Given the description of an element on the screen output the (x, y) to click on. 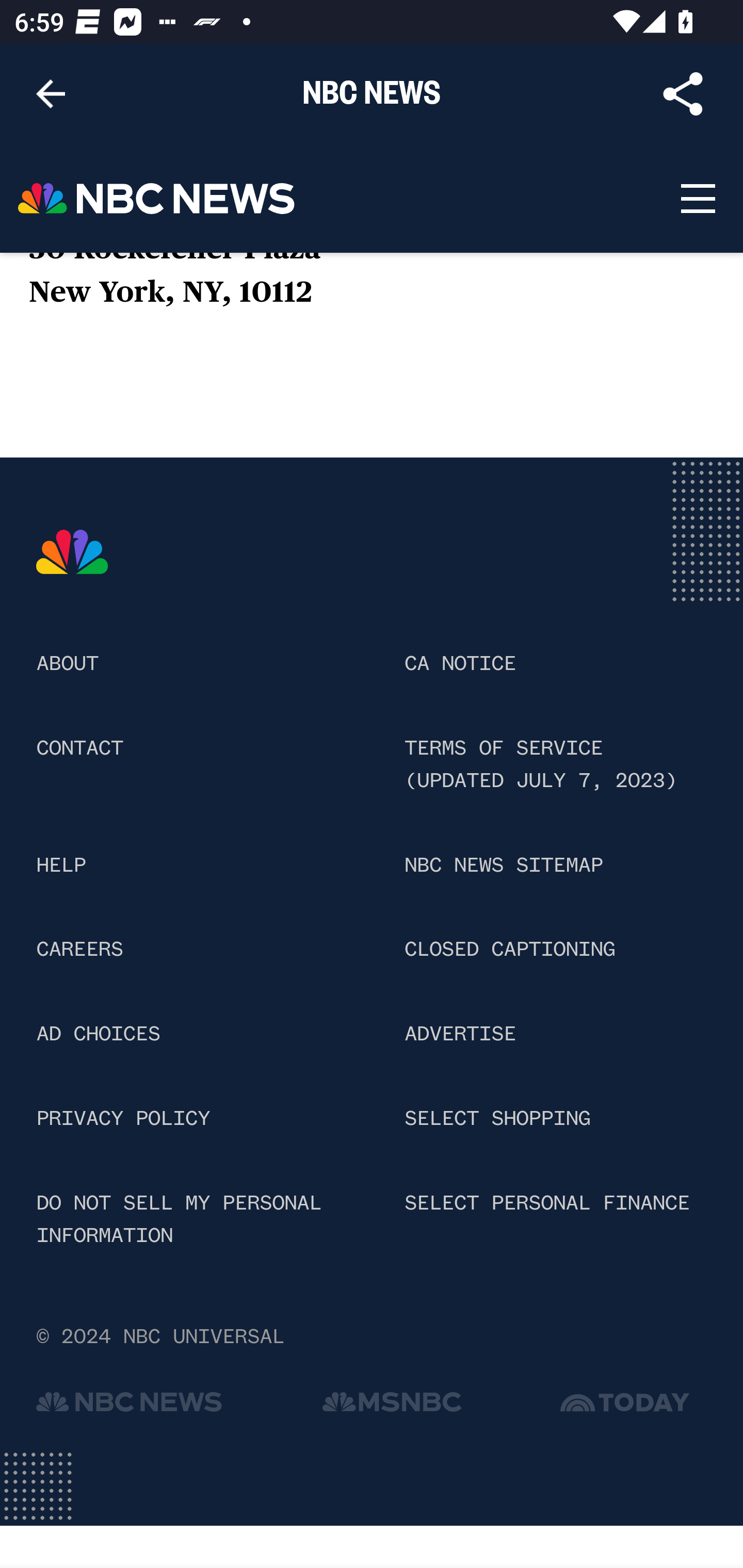
Navigate up (50, 93)
Share Article, button (683, 94)
NBC News Logo (156, 199)
news navigation and search (696, 199)
www.nbcnews (72, 553)
ABOUT (67, 663)
CA NOTICE (459, 663)
CONTACT (80, 747)
TERMS OF SERVICE (UPDATED JULY 7, 2023) (540, 763)
HELP (61, 865)
NBC NEWS SITEMAP (502, 865)
CAREERS (80, 950)
CLOSED CAPTIONING (508, 950)
AD CHOICES (98, 1035)
ADVERTISE (459, 1035)
PRIVACY POLICY (123, 1120)
SELECT SHOPPING (495, 1120)
DO NOT SELL MY PERSONAL INFORMATION (179, 1219)
SELECT PERSONAL FINANCE (546, 1203)
NBC News Logo (131, 1406)
MSNBC Logo (392, 1406)
Today Logo (625, 1406)
